Given the description of an element on the screen output the (x, y) to click on. 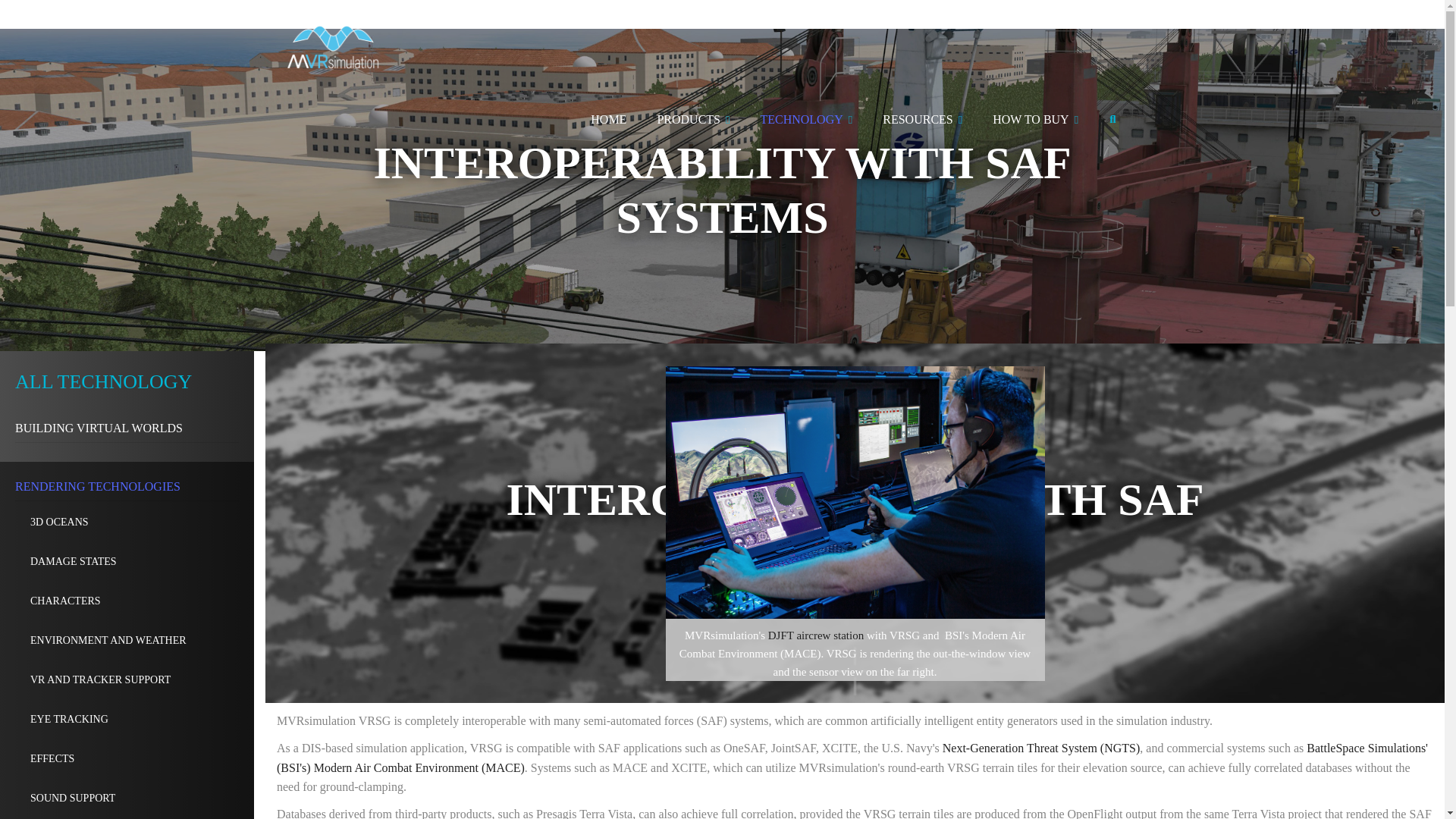
TECHNOLOGY (805, 119)
HOME (608, 119)
PRODUCTS (693, 119)
Home (333, 37)
